Given the description of an element on the screen output the (x, y) to click on. 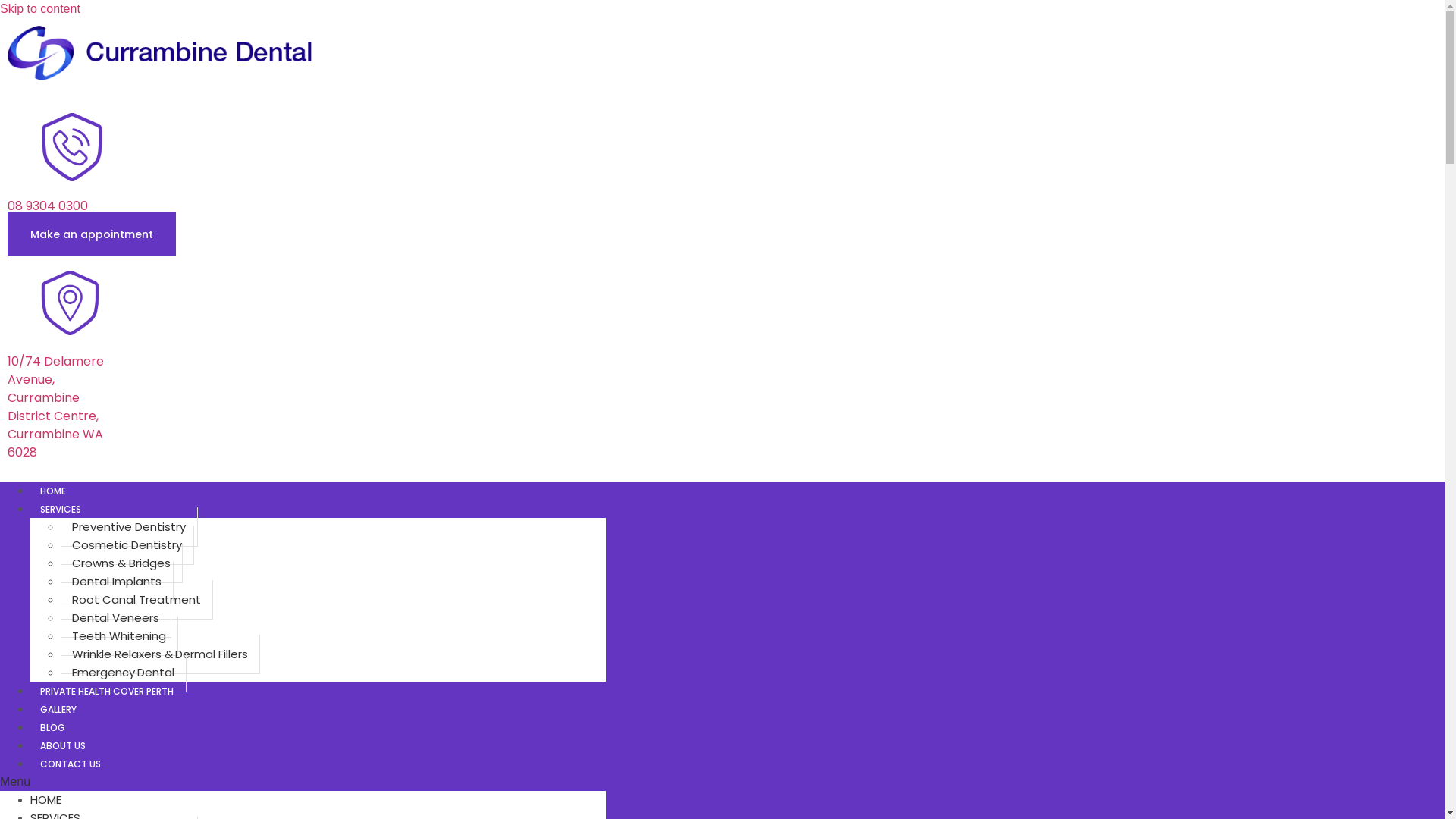
CONTACT US Element type: text (70, 762)
Crowns & Bridges Element type: text (121, 563)
08 9304 0300 Element type: text (47, 205)
GALLERY Element type: text (58, 707)
SERVICES Element type: text (60, 507)
Make an appointment Element type: text (91, 233)
ABOUT US Element type: text (63, 744)
Preventive Dentistry Element type: text (128, 526)
Teeth Whitening Element type: text (119, 635)
Dental Implants Element type: text (116, 581)
Cosmetic Dentistry Element type: text (127, 544)
Dental Veneers Element type: text (115, 617)
PRIVATE HEALTH COVER PERTH Element type: text (107, 689)
Root Canal Treatment Element type: text (136, 599)
Skip to content Element type: text (40, 8)
HOME Element type: text (53, 489)
HOME Element type: text (45, 799)
BLOG Element type: text (52, 725)
